Given the description of an element on the screen output the (x, y) to click on. 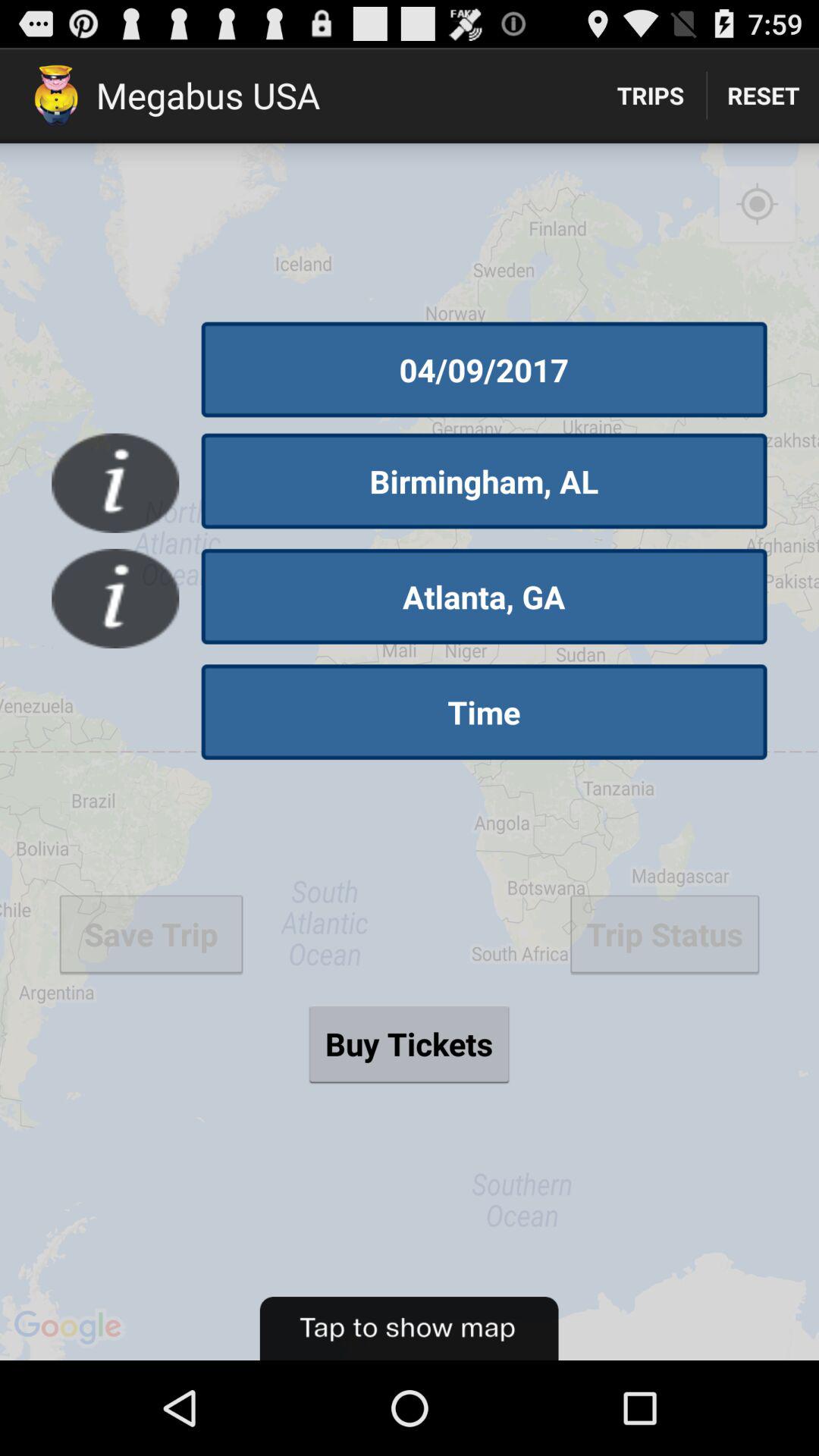
click the item below the trips icon (409, 751)
